Given the description of an element on the screen output the (x, y) to click on. 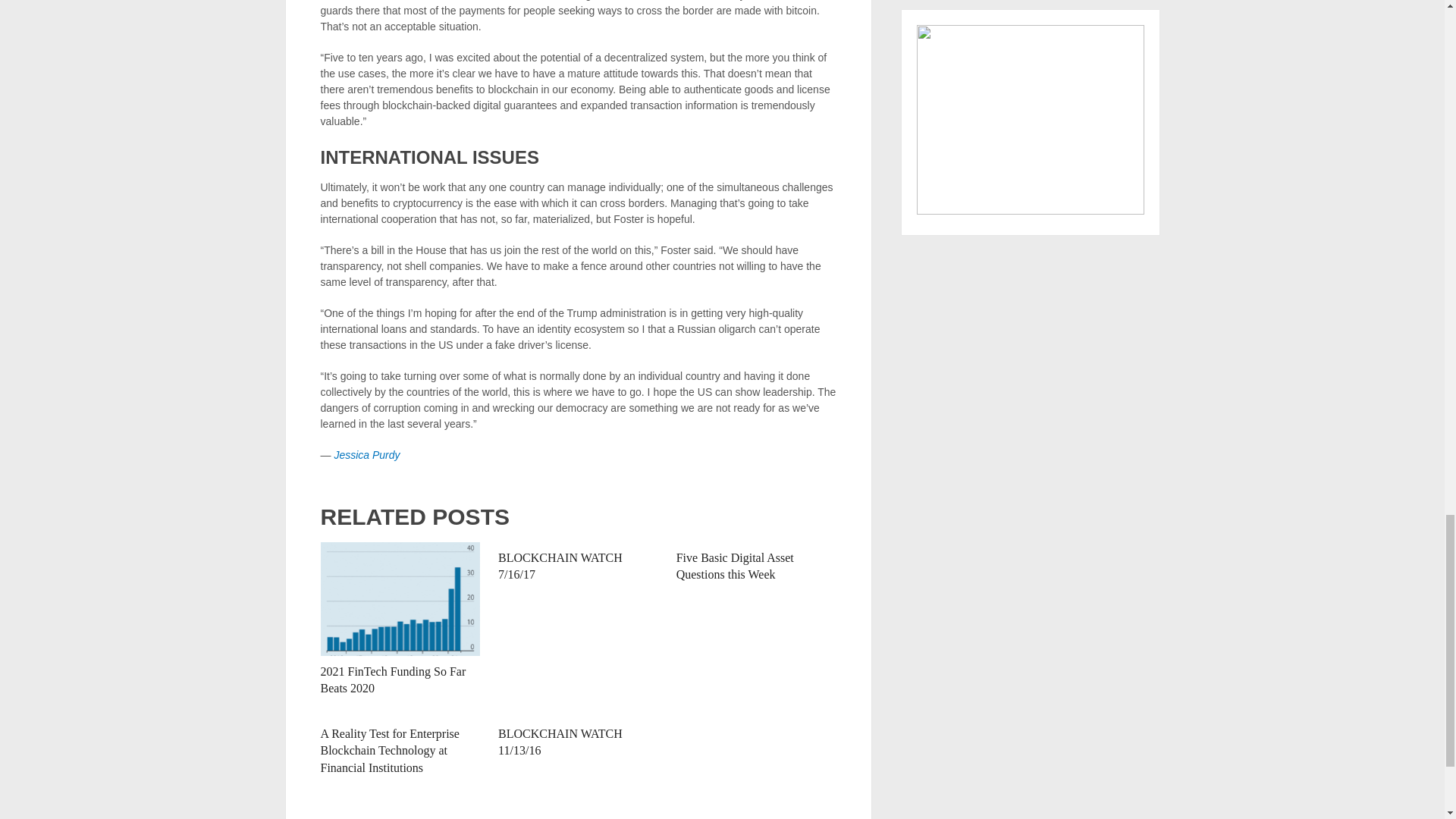
Jessica Purdy (365, 454)
2021 FinTech Funding So Far Beats 2020 (392, 679)
2021 FinTech Funding So Far Beats 2020 (400, 599)
2021 FinTech Funding So Far Beats 2020 (392, 679)
Five Basic Digital Asset Questions this Week (735, 565)
Five Basic Digital Asset Questions this Week (735, 565)
